Given the description of an element on the screen output the (x, y) to click on. 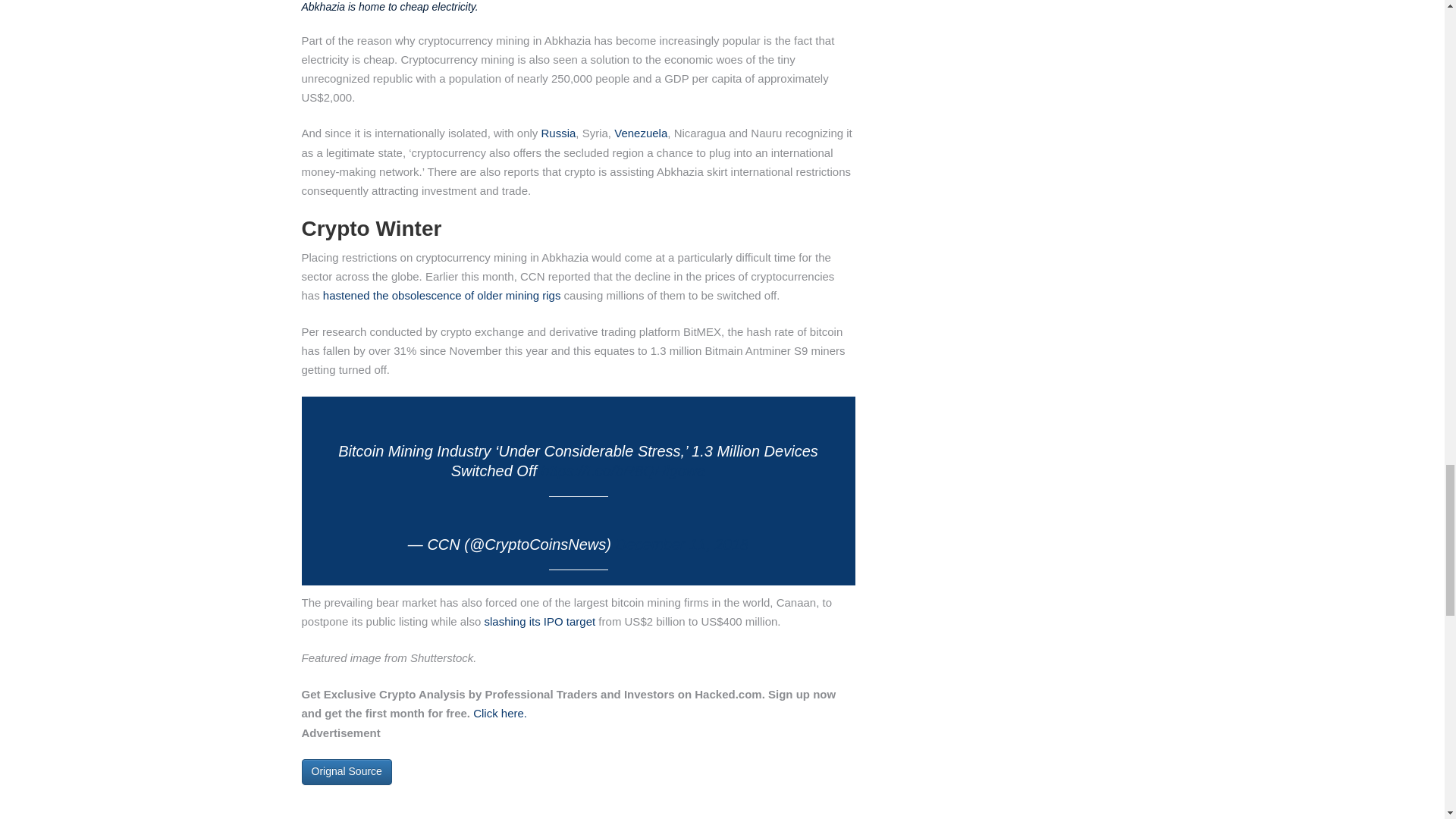
Click here. (500, 712)
Russia (558, 132)
hastened the obsolescence of older mining rigs (441, 295)
Orignal Source (346, 771)
slashing its IPO target (539, 621)
Venezuela (640, 132)
December 11, 2018 (682, 544)
